Given the description of an element on the screen output the (x, y) to click on. 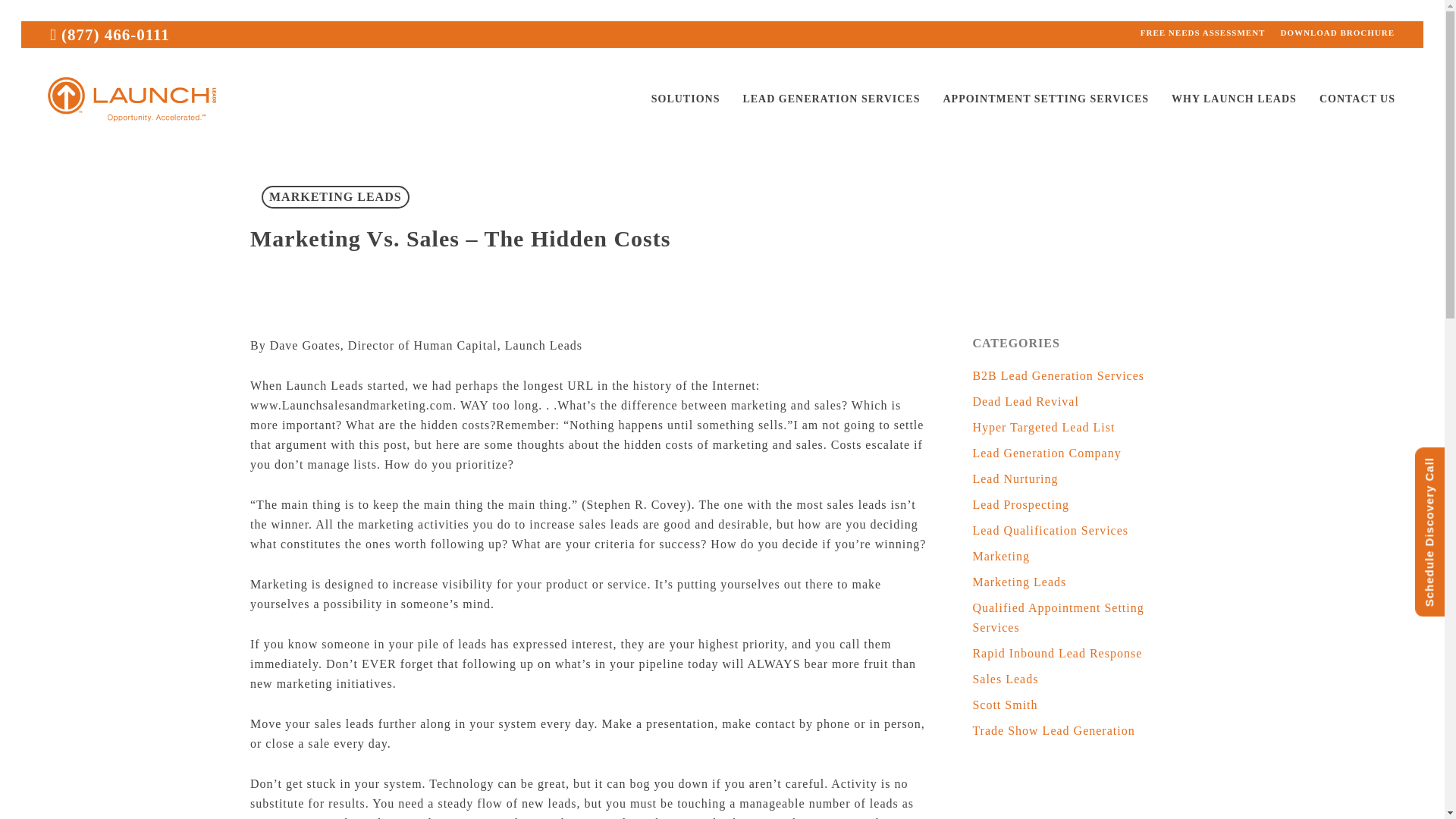
LEAD GENERATION SERVICES (830, 99)
WHY LAUNCH LEADS (1233, 99)
Lead Generation Company (1082, 453)
MARKETING LEADS (335, 196)
Marketing (1082, 556)
DOWNLOAD BROCHURE (1337, 33)
APPOINTMENT SETTING SERVICES (1045, 99)
Qualified Appointment Setting Services (1082, 618)
Lead Prospecting (1082, 505)
Lead Nurturing (1082, 478)
Lead Qualification Services (1082, 530)
Rapid Inbound Lead Response (1082, 653)
FREE NEEDS ASSESSMENT (1202, 33)
Dead Lead Revival (1082, 401)
CONTACT US (1356, 99)
